Given the description of an element on the screen output the (x, y) to click on. 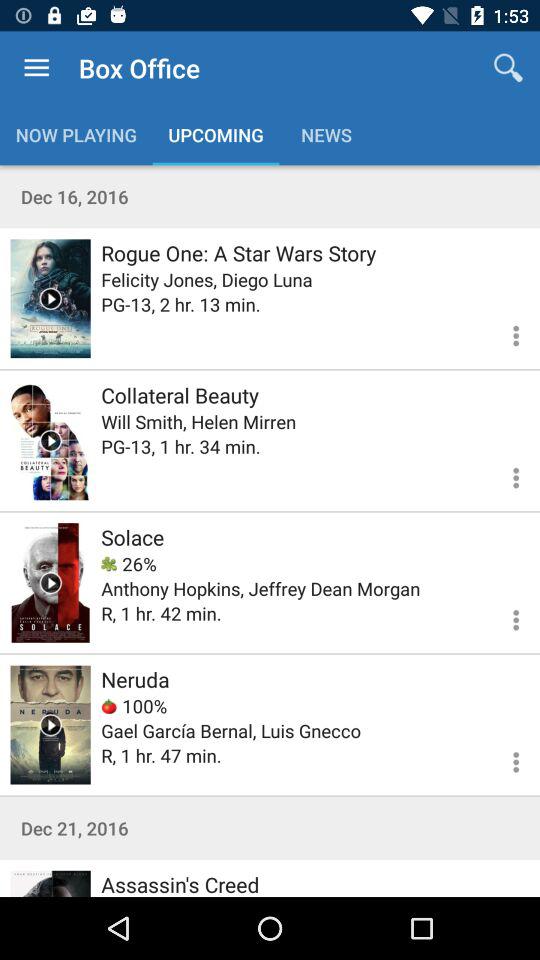
release date or upcoming video on assassin 's creed (50, 883)
